Given the description of an element on the screen output the (x, y) to click on. 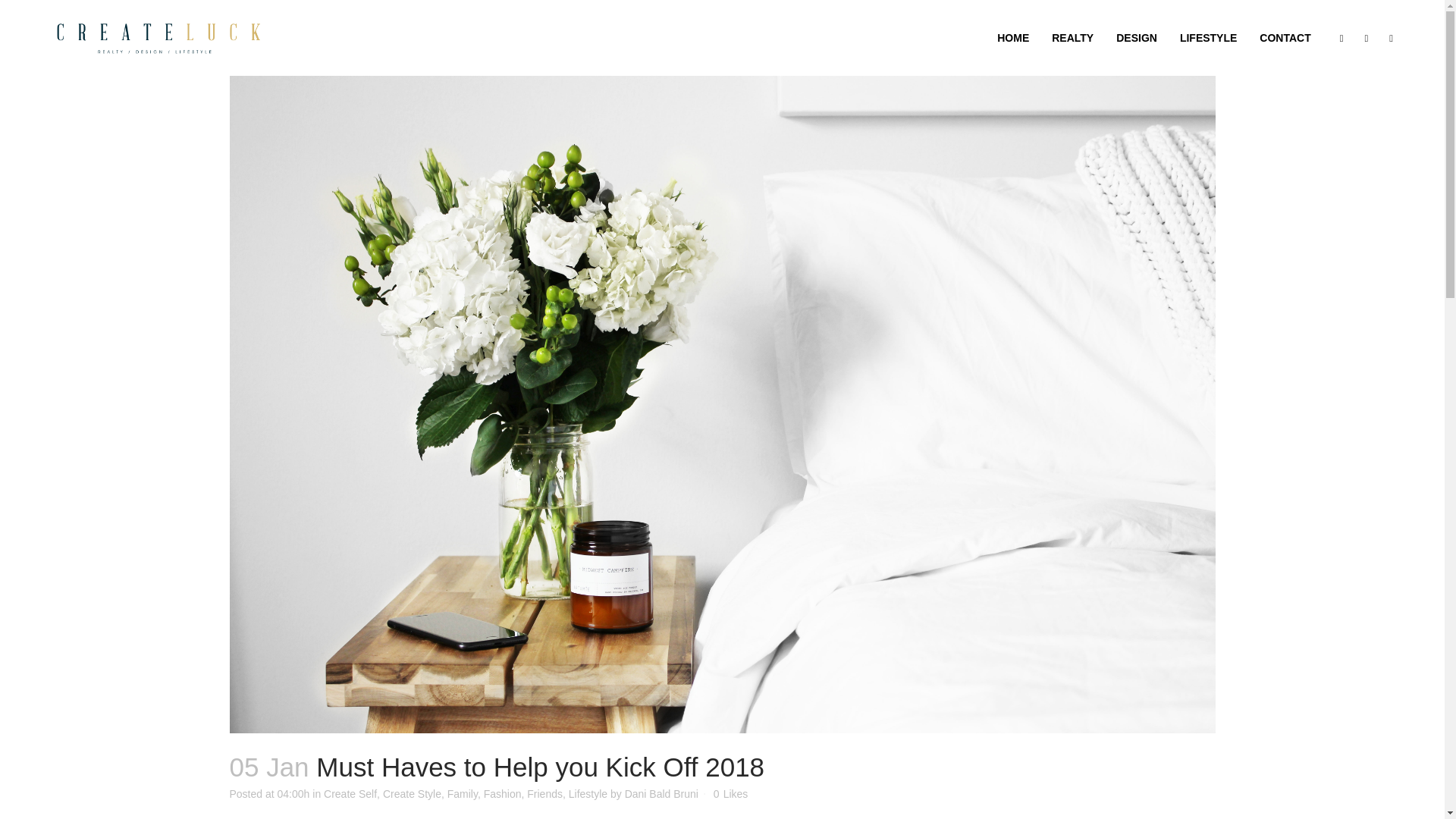
Family (461, 793)
Dani Bald Bruni (661, 793)
Fashion (502, 793)
Lifestyle (588, 793)
Create Self (350, 793)
CONTACT (1284, 38)
LIFESTYLE (1208, 38)
Friends (544, 793)
Like this (730, 793)
0 Likes (730, 793)
Create Style (411, 793)
